Given the description of an element on the screen output the (x, y) to click on. 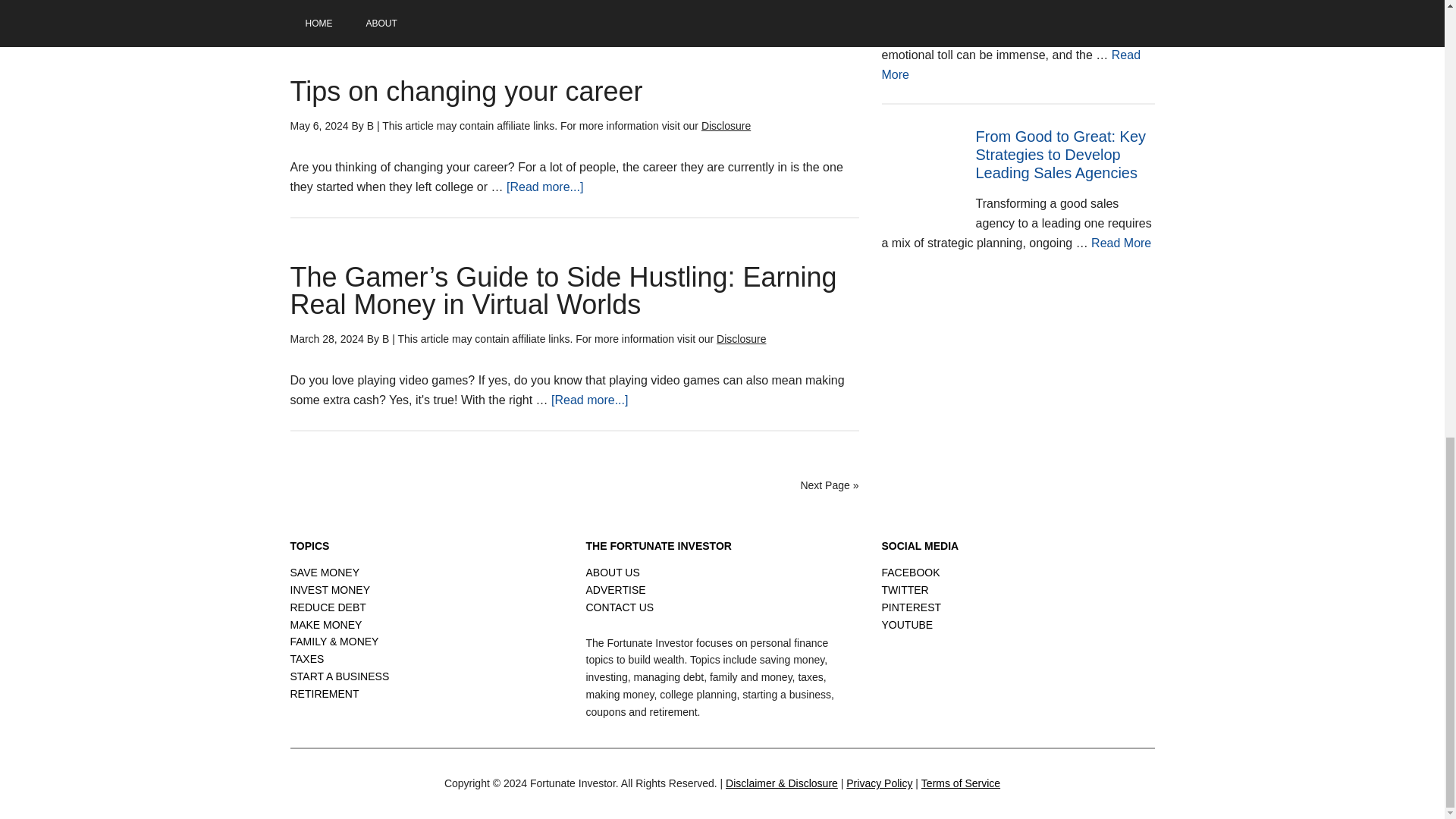
Disclosure (726, 125)
Disclosure (740, 338)
Tips on changing your career (465, 91)
